Given the description of an element on the screen output the (x, y) to click on. 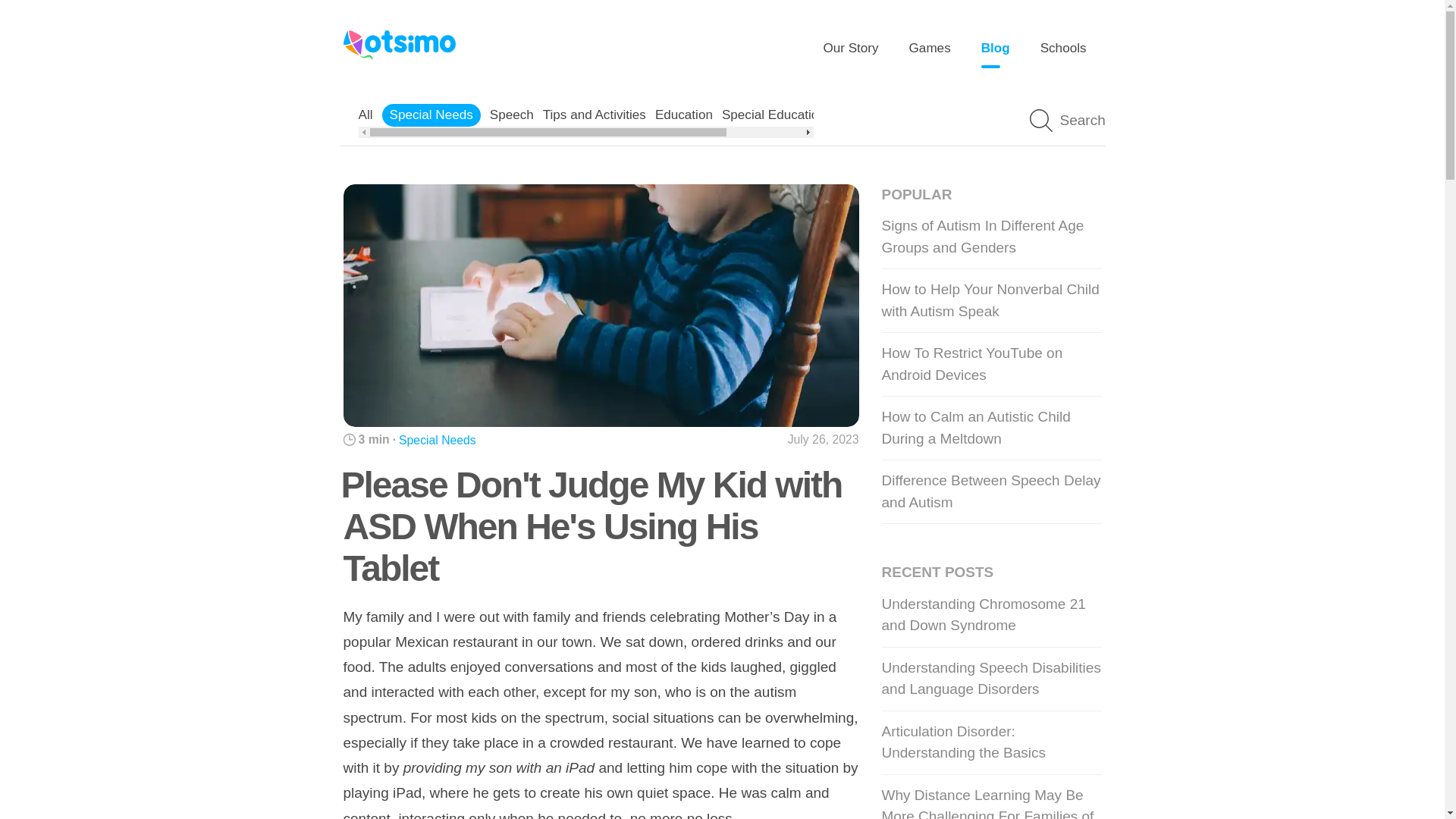
Special Needs (437, 439)
Articulation Disorder: Understanding the Basics (990, 742)
How to Calm an Autistic Child During a Meltdown (990, 428)
Special Education (773, 114)
How to Help Your Nonverbal Child with Autism Speak (990, 300)
Difference Between Speech Delay and Autism (990, 492)
How To Restrict YouTube on Android Devices (990, 364)
All (365, 114)
Tips and Activities (594, 114)
Special Needs (431, 114)
Signs of Autism In Different Age Groups and Genders (990, 237)
Understanding Speech Disabilities and Language Disorders (990, 679)
Technology (866, 114)
Understanding Chromosome 21 and Down Syndrome (990, 615)
Speech (511, 114)
